Given the description of an element on the screen output the (x, y) to click on. 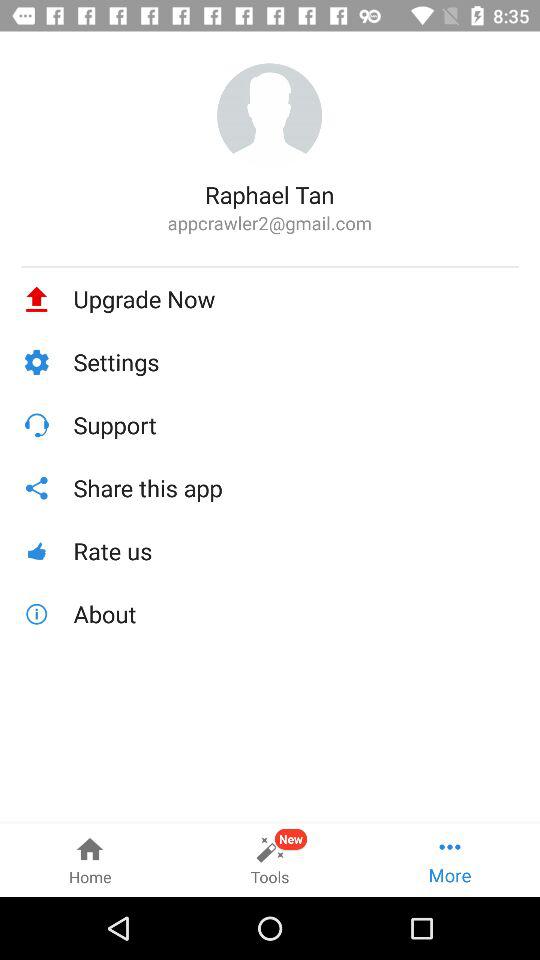
choose the upgrade now icon (296, 299)
